Given the description of an element on the screen output the (x, y) to click on. 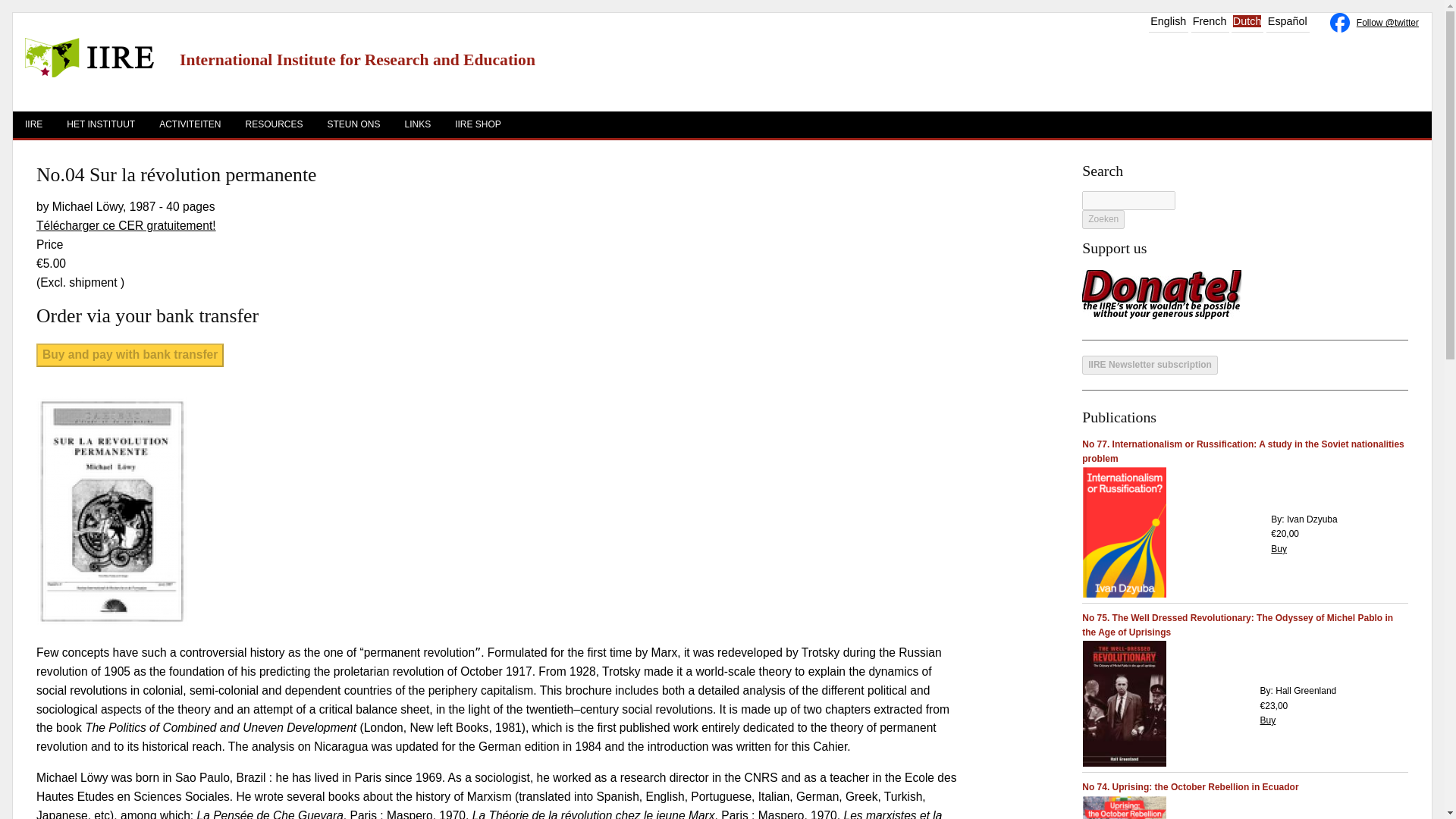
Buy and pay with bank transfer (130, 354)
IIRE on Facebook (1340, 23)
Choose your language (1209, 21)
IIRE (34, 124)
Dutch (1247, 21)
Buy and pay with bank transfer (130, 354)
RESOURCES (273, 124)
LINKS (418, 124)
Geef de woorden op waarnaar u wilt zoeken. (1127, 199)
IIRE SHOP (477, 124)
English (1168, 21)
Resources (273, 124)
Choose your language (1168, 21)
STEUN ONS (352, 124)
